Given the description of an element on the screen output the (x, y) to click on. 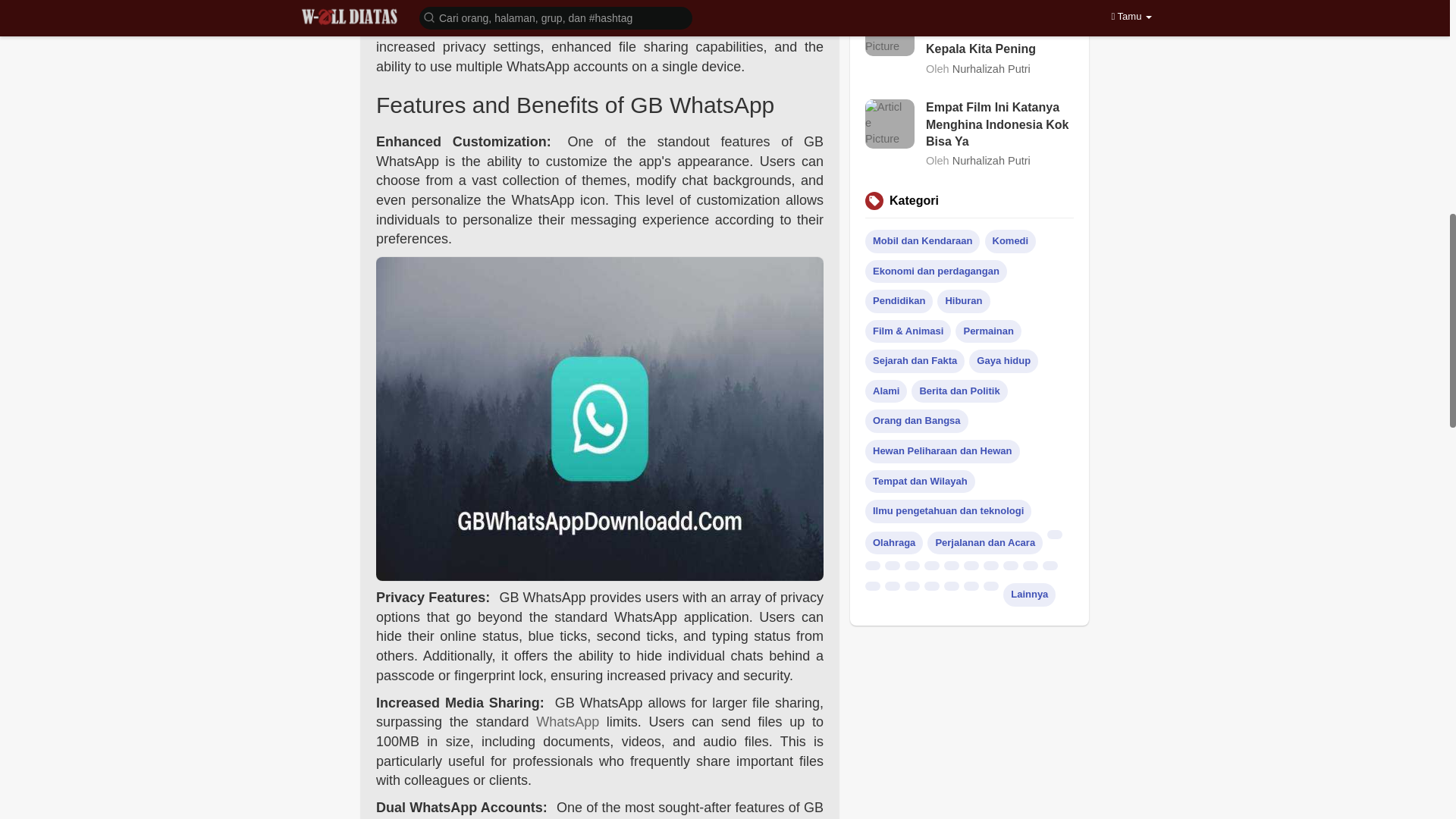
Nurhalizah Putri (991, 68)
WhatsApp (566, 721)
